Given the description of an element on the screen output the (x, y) to click on. 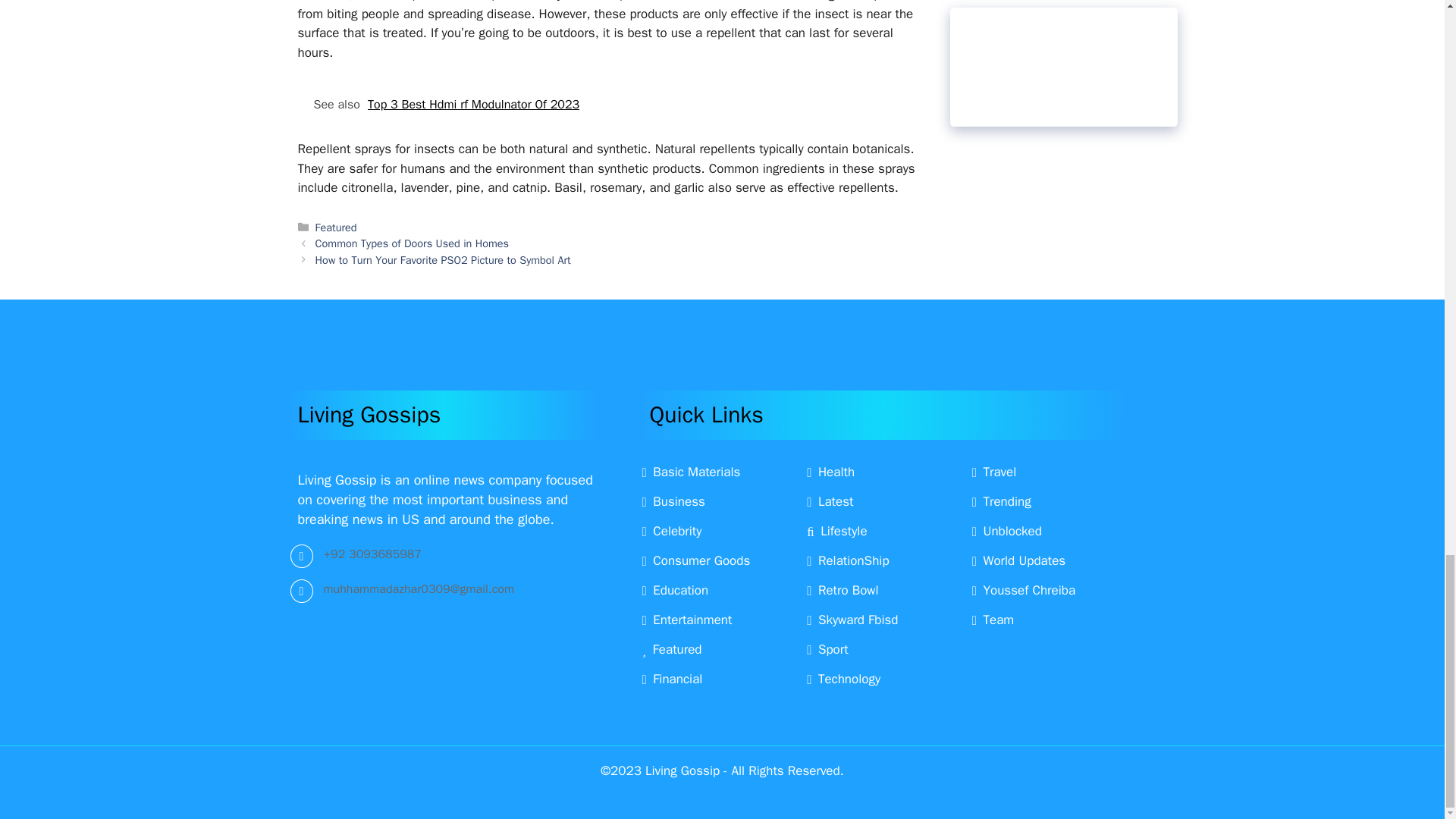
Financial (671, 678)
Education (674, 590)
Latest (829, 501)
See also  Top 3 Best Hdmi rf Modulnator Of 2023 (607, 104)
Basic Materials (690, 471)
Featured (671, 649)
Health (830, 471)
Entertainment (687, 619)
Celebrity (671, 530)
How to Turn Your Favorite PSO2 Picture to Symbol Art (442, 259)
Featured (335, 227)
Lifestyle (836, 530)
Common Types of Doors Used in Homes (412, 243)
Business (673, 501)
Consumer Goods (695, 560)
